Given the description of an element on the screen output the (x, y) to click on. 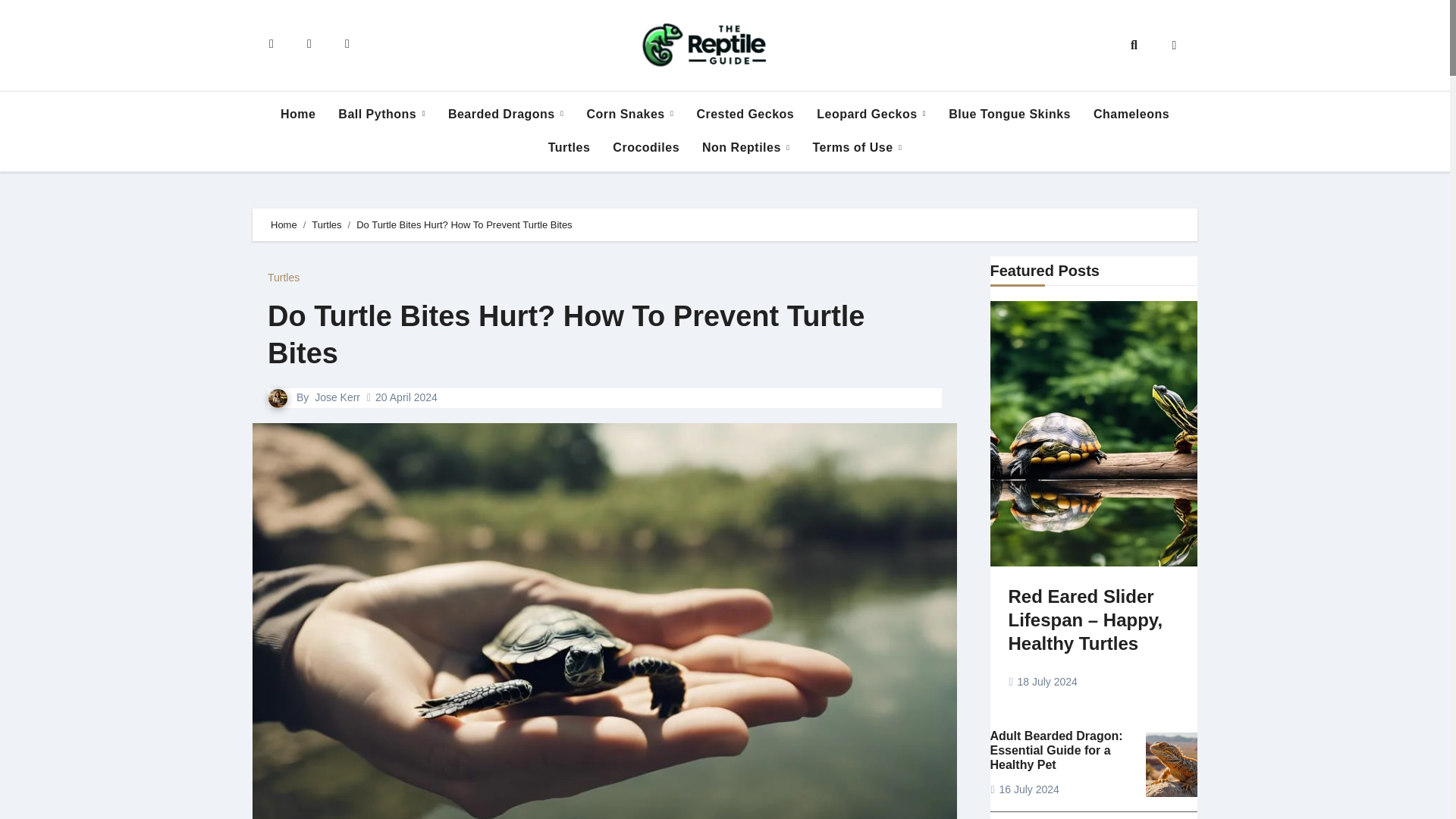
Corn Snakes (629, 114)
Bearded Dragons (505, 114)
Crested Geckos (744, 114)
Ball Pythons (381, 114)
Bearded Dragons (505, 114)
Turtles (569, 147)
Home (297, 114)
Blue Tongue Skinks (1009, 114)
Non Reptiles (745, 147)
Crocodiles (645, 147)
Corn Snakes (629, 114)
Home (297, 114)
Chameleons (1130, 114)
Ball Pythons (381, 114)
Leopard Geckos (871, 114)
